Given the description of an element on the screen output the (x, y) to click on. 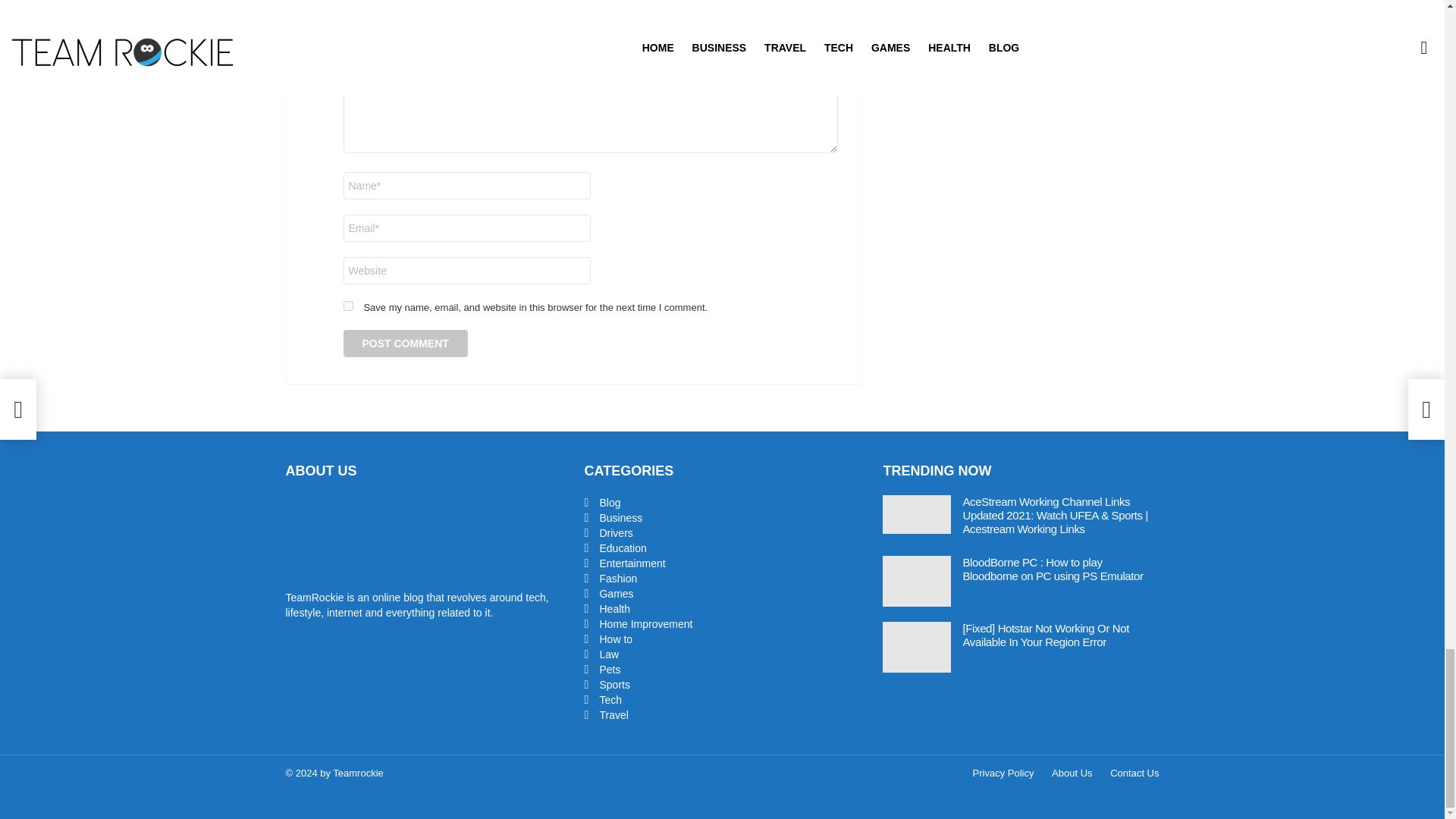
yes (347, 306)
Post Comment (404, 343)
